Given the description of an element on the screen output the (x, y) to click on. 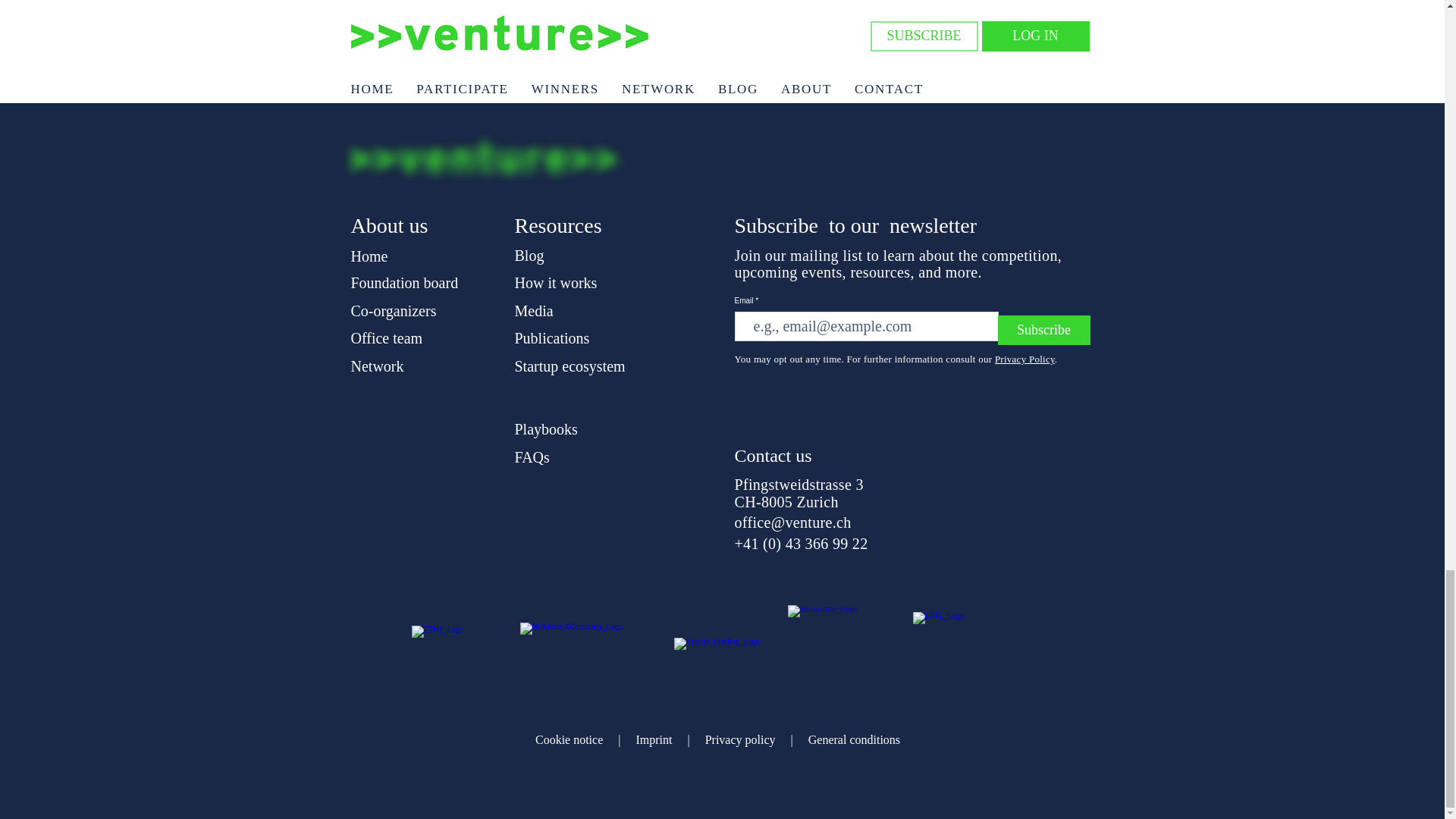
Blog (528, 255)
Office team (386, 338)
Foundation board (404, 282)
Home (368, 256)
Network (376, 365)
Co-organizers (392, 310)
